Given the description of an element on the screen output the (x, y) to click on. 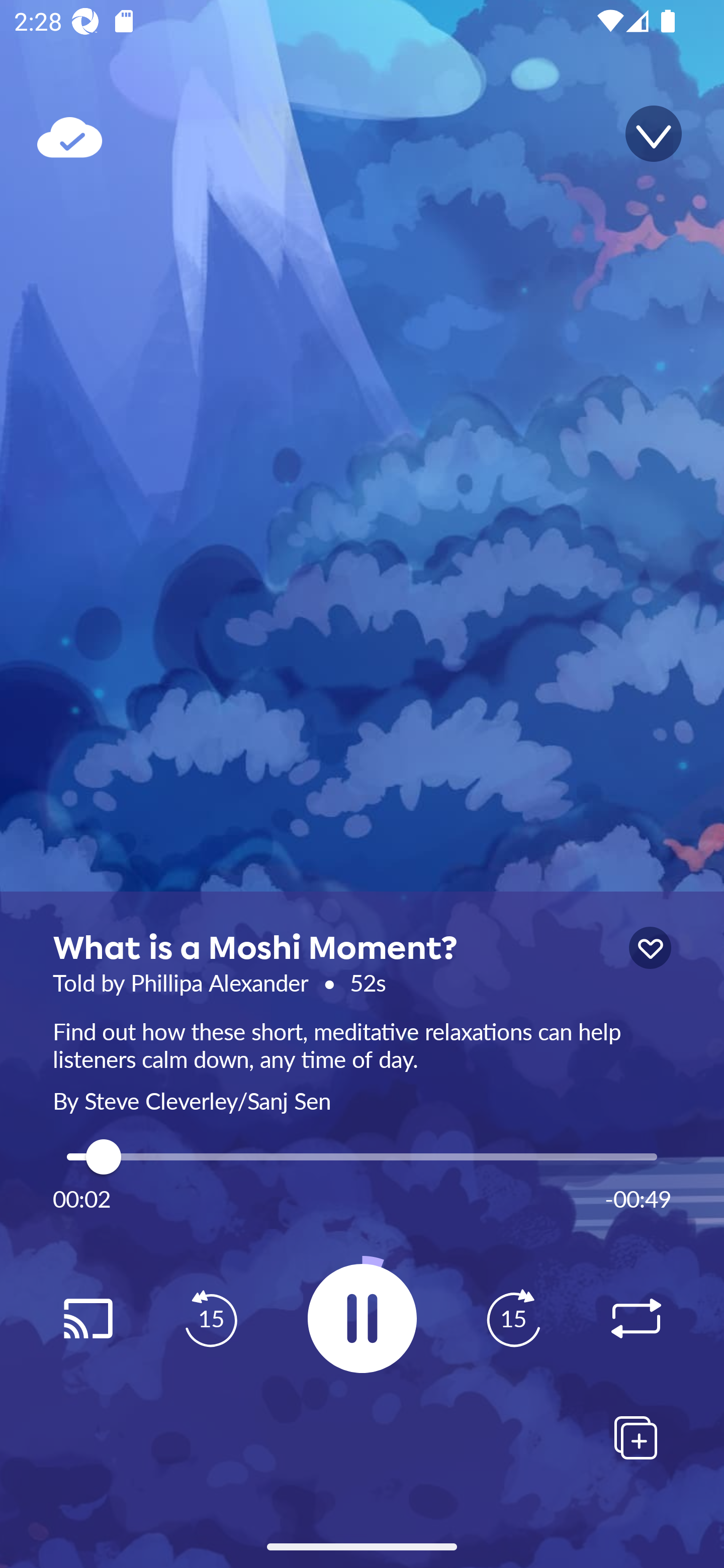
lock icon (650, 947)
0.056615386 Pause (361, 1317)
Replay (87, 1318)
Replay 15 (210, 1318)
Replay 15 (513, 1318)
Replay (635, 1318)
Add To Playlists (635, 1437)
